Given the description of an element on the screen output the (x, y) to click on. 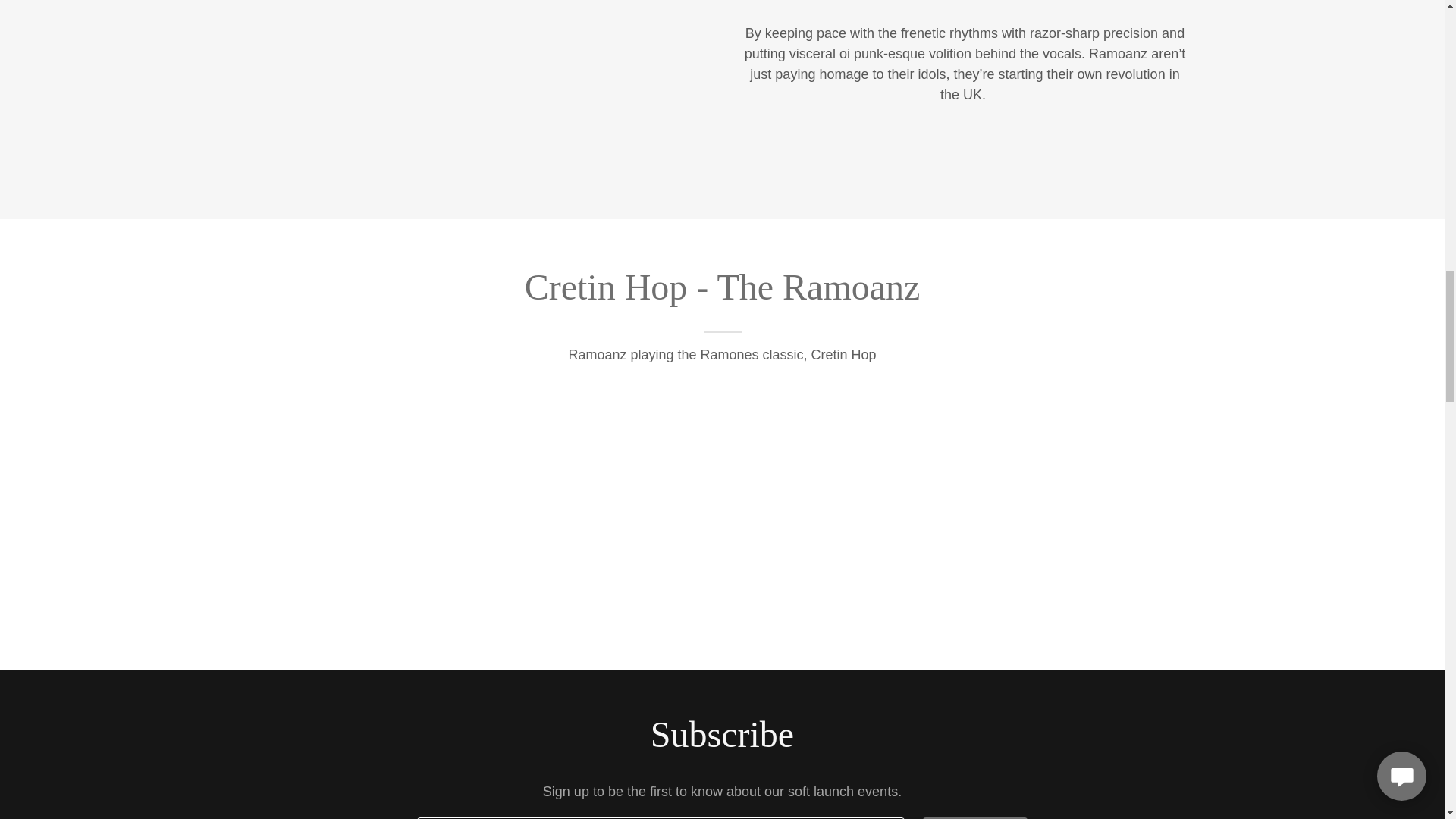
SIGN UP (975, 818)
Clickable audio widget (721, 509)
